Given the description of an element on the screen output the (x, y) to click on. 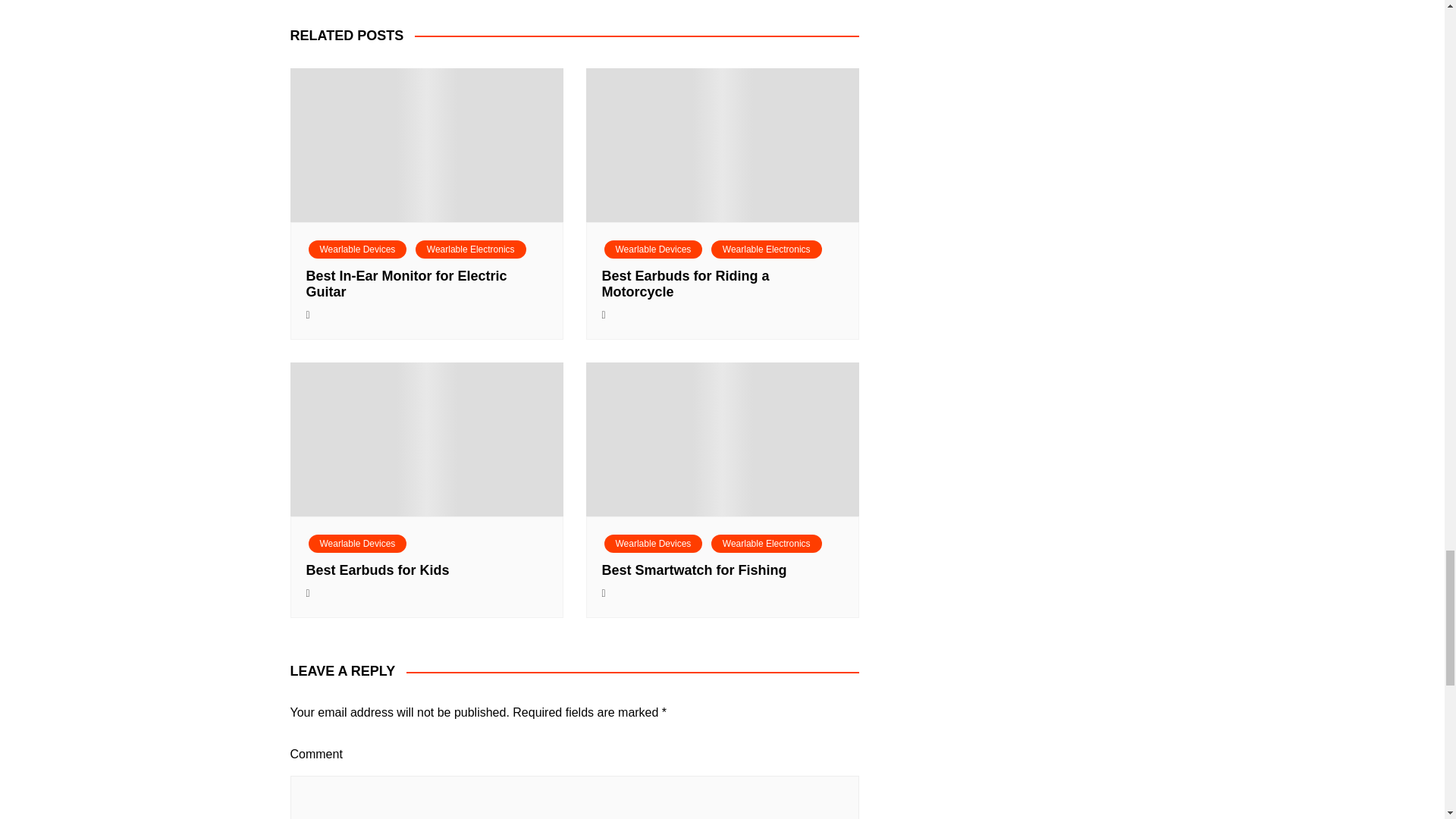
Wearlable Devices (652, 249)
Wearlable Electronics (469, 249)
Best In-Ear Monitor for Electric Guitar (405, 284)
Best Earbuds for Riding a Motorcycle (686, 284)
Wearlable Devices (356, 249)
Wearlable Electronics (766, 249)
